Given the description of an element on the screen output the (x, y) to click on. 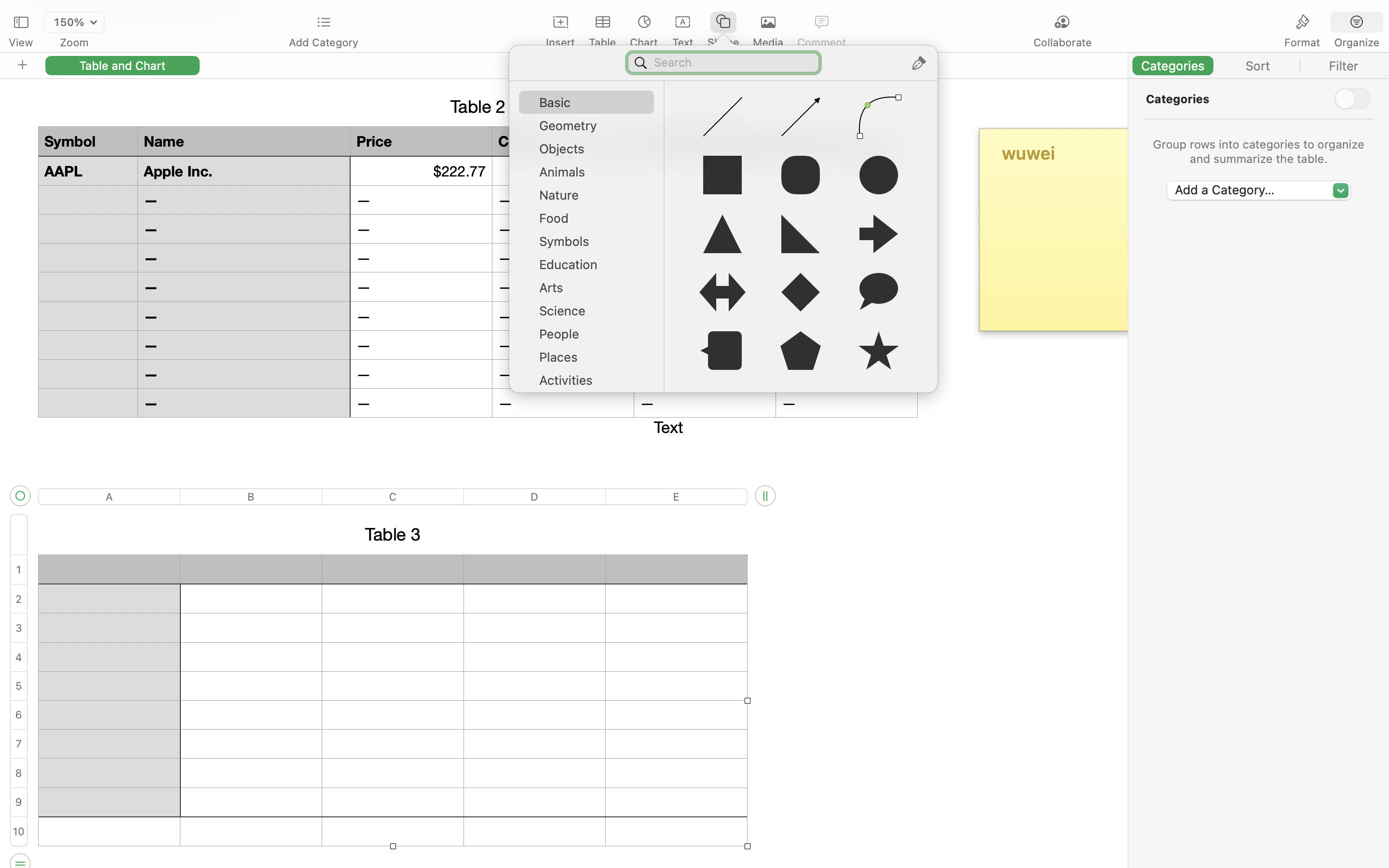
<AXUIElement 0x28097ffe0> {pid=1420} Element type: AXRadioGroup (1258, 65)
Basic Element type: AXStaticText (591, 105)
Places Element type: AXStaticText (591, 360)
Work Element type: AXStaticText (591, 429)
Table and Chart Element type: AXStaticText (122, 64)
